Given the description of an element on the screen output the (x, y) to click on. 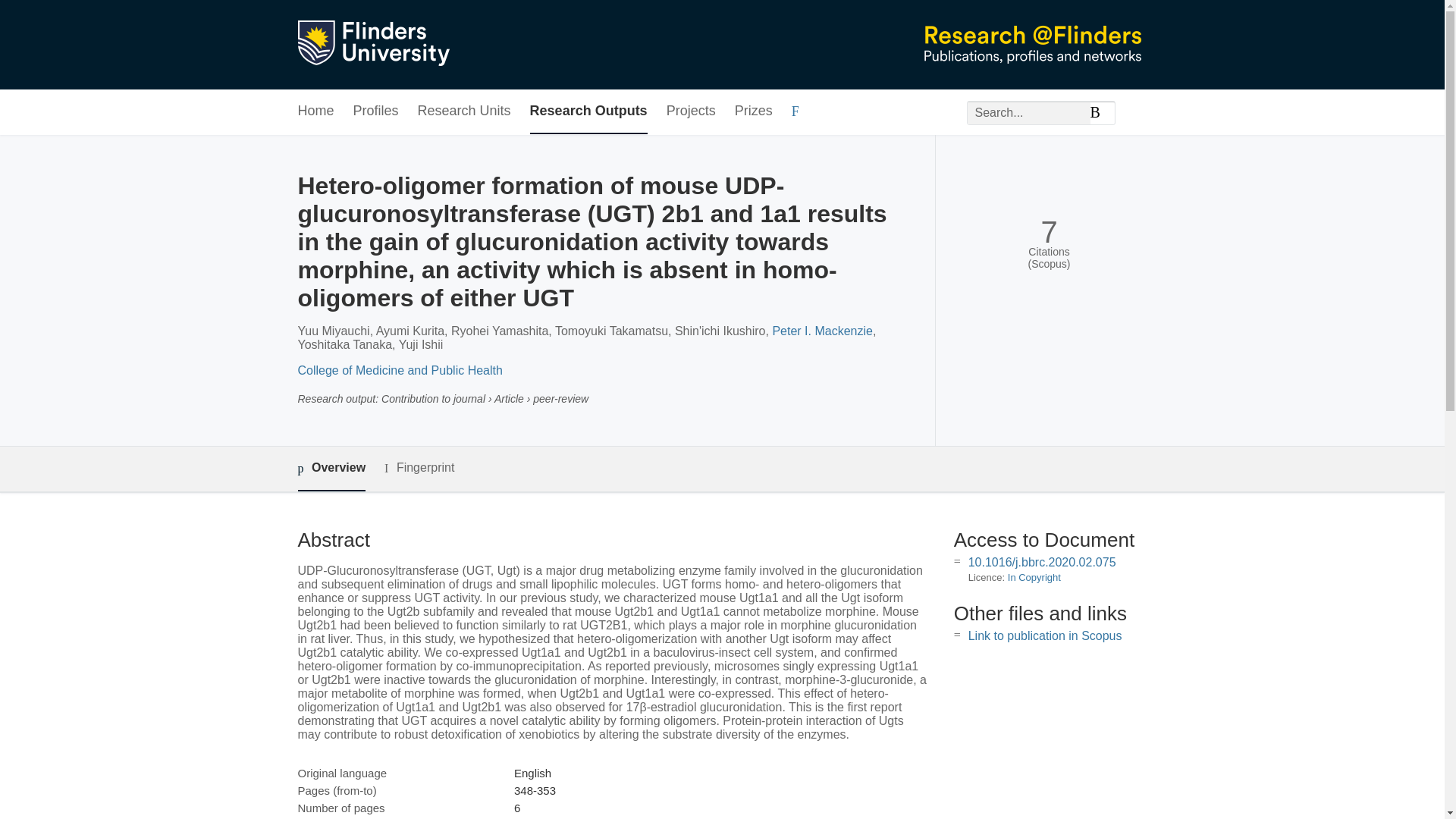
Projects (691, 111)
Profiles (375, 111)
In Copyright (1034, 577)
Overview (331, 468)
Research Units (464, 111)
Fingerprint (419, 467)
Peter I. Mackenzie (821, 330)
Research Outputs (588, 111)
Link to publication in Scopus (1045, 635)
